Given the description of an element on the screen output the (x, y) to click on. 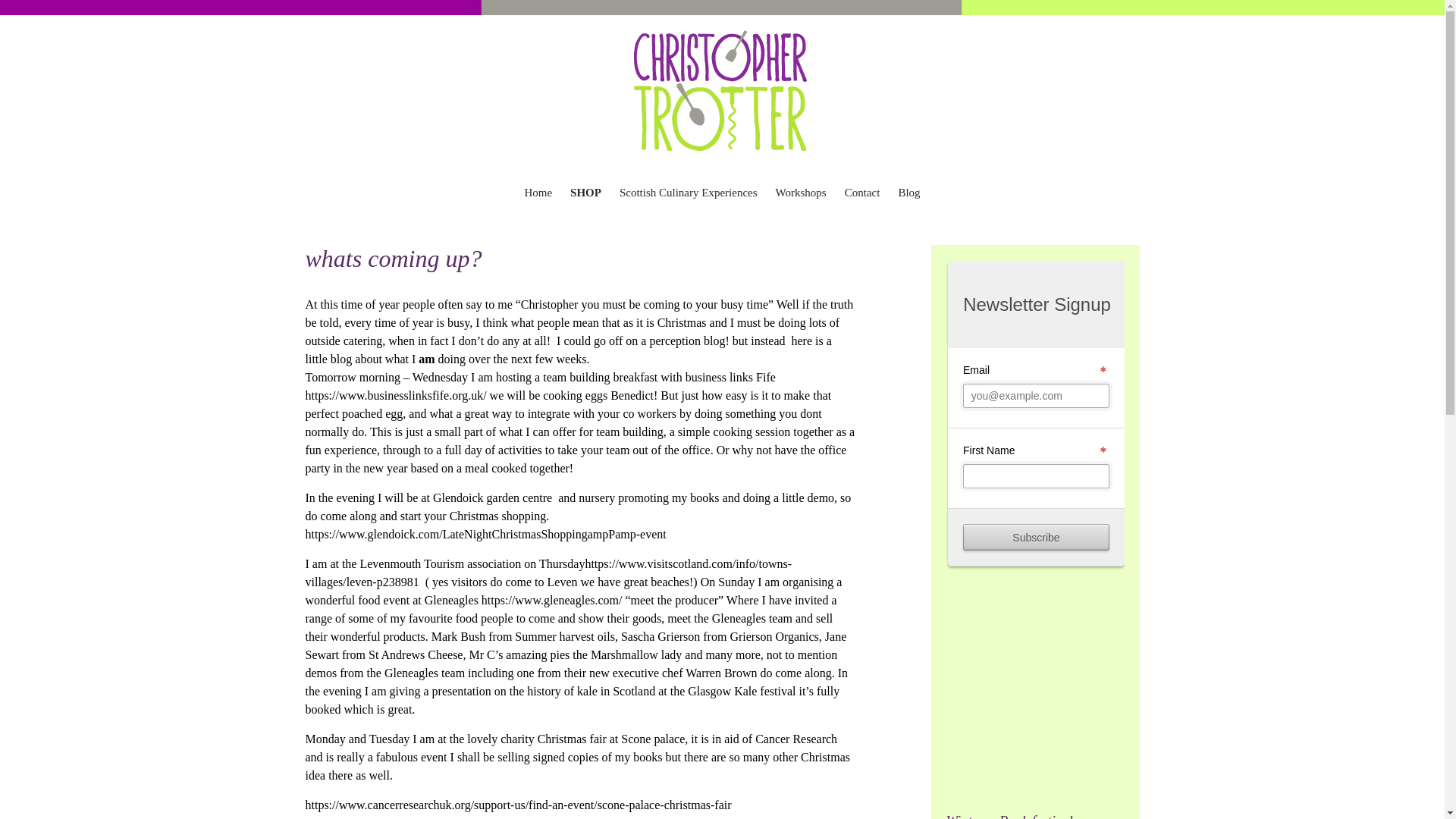
Christopher Trotter Home Page (721, 92)
Blog (909, 192)
Scottish Culinary Experiences (688, 192)
Home (537, 192)
Contact (862, 192)
Wigtown Book festival (1035, 816)
Wigtown Book festival (1035, 816)
SHOP (585, 192)
Workshops (801, 192)
